Given the description of an element on the screen output the (x, y) to click on. 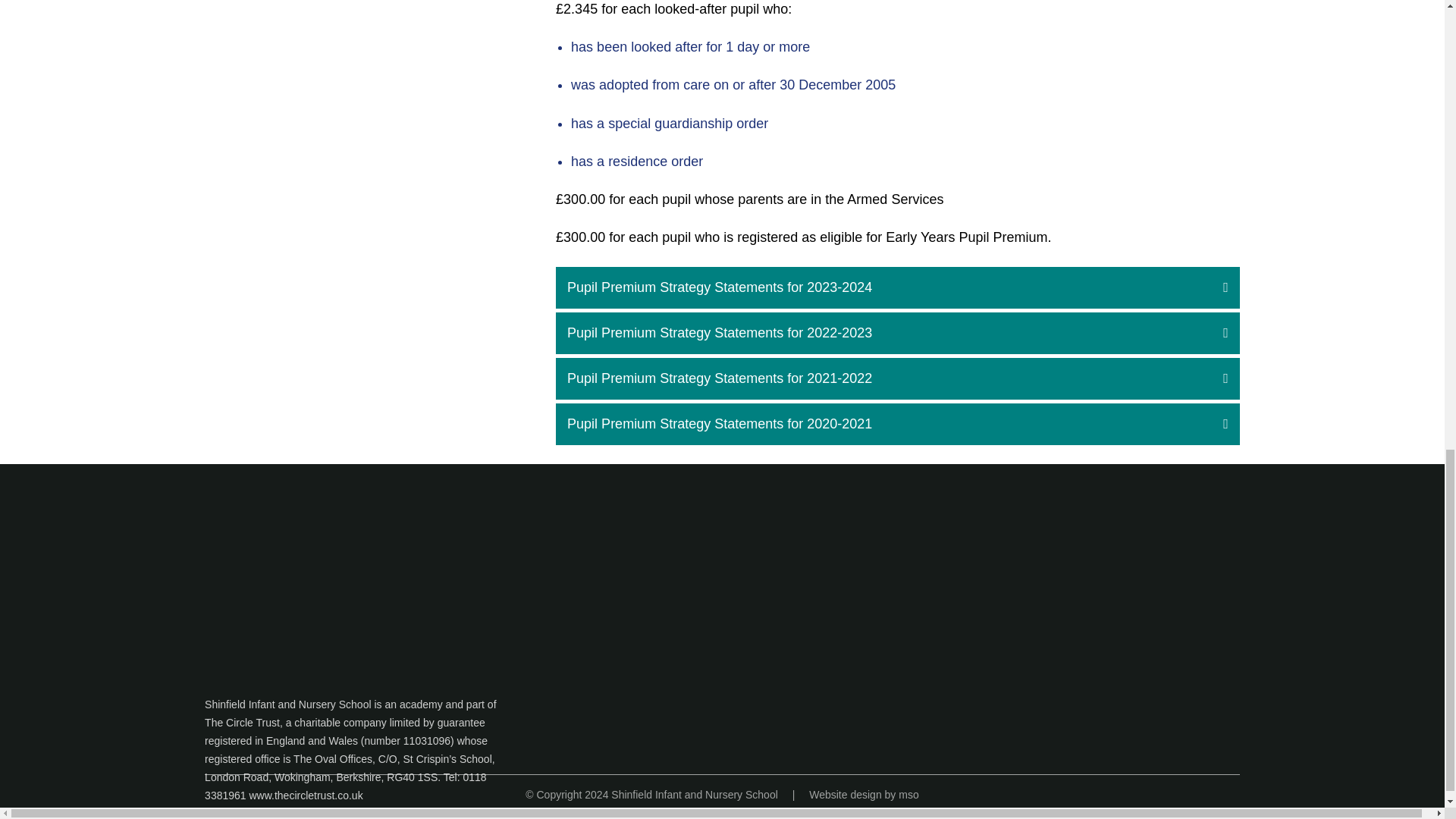
Pupil Premium Strategy Statements for 2022-2023 (898, 332)
Pupil Premium Strategy Statements for 2020-2021 (898, 424)
Pupil Premium Strategy Statements for 2021-2022 (898, 378)
Pupil Premium Strategy Statements for 2023-2024 (898, 287)
